Given the description of an element on the screen output the (x, y) to click on. 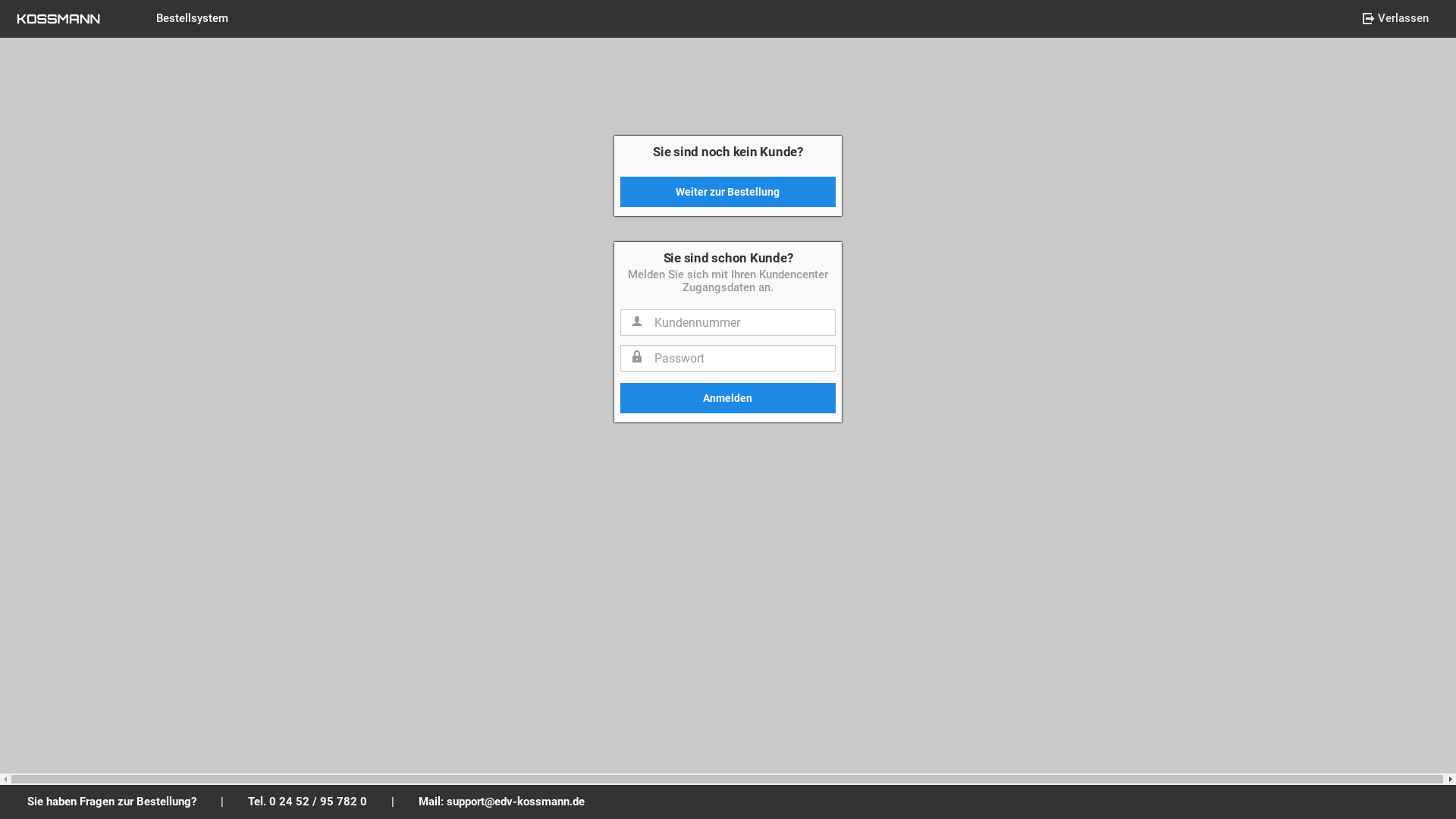
Verlassen Element type: text (1395, 18)
Bestellsystem Element type: text (192, 18)
Weiter zur Bestellung Element type: text (728, 191)
Anmelden Element type: text (728, 397)
